Given the description of an element on the screen output the (x, y) to click on. 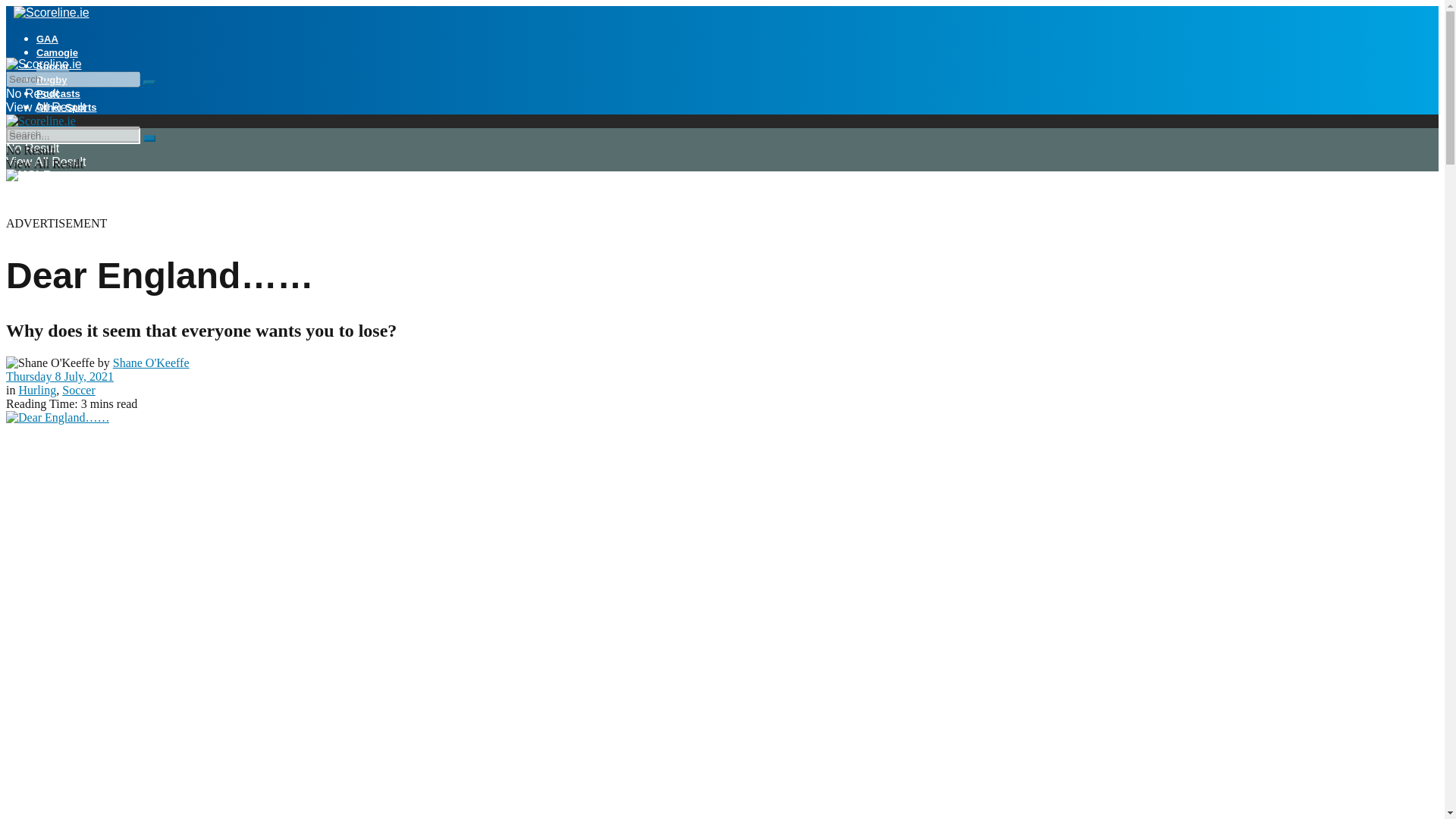
Rugby (51, 79)
Thursday 8 July, 2021 (59, 376)
GAA (47, 39)
Podcasts (58, 93)
Soccer (79, 390)
Hurling (36, 390)
Camogie (57, 52)
Soccer (52, 66)
Other Sports (66, 107)
Shane O'Keeffe (151, 362)
